Given the description of an element on the screen output the (x, y) to click on. 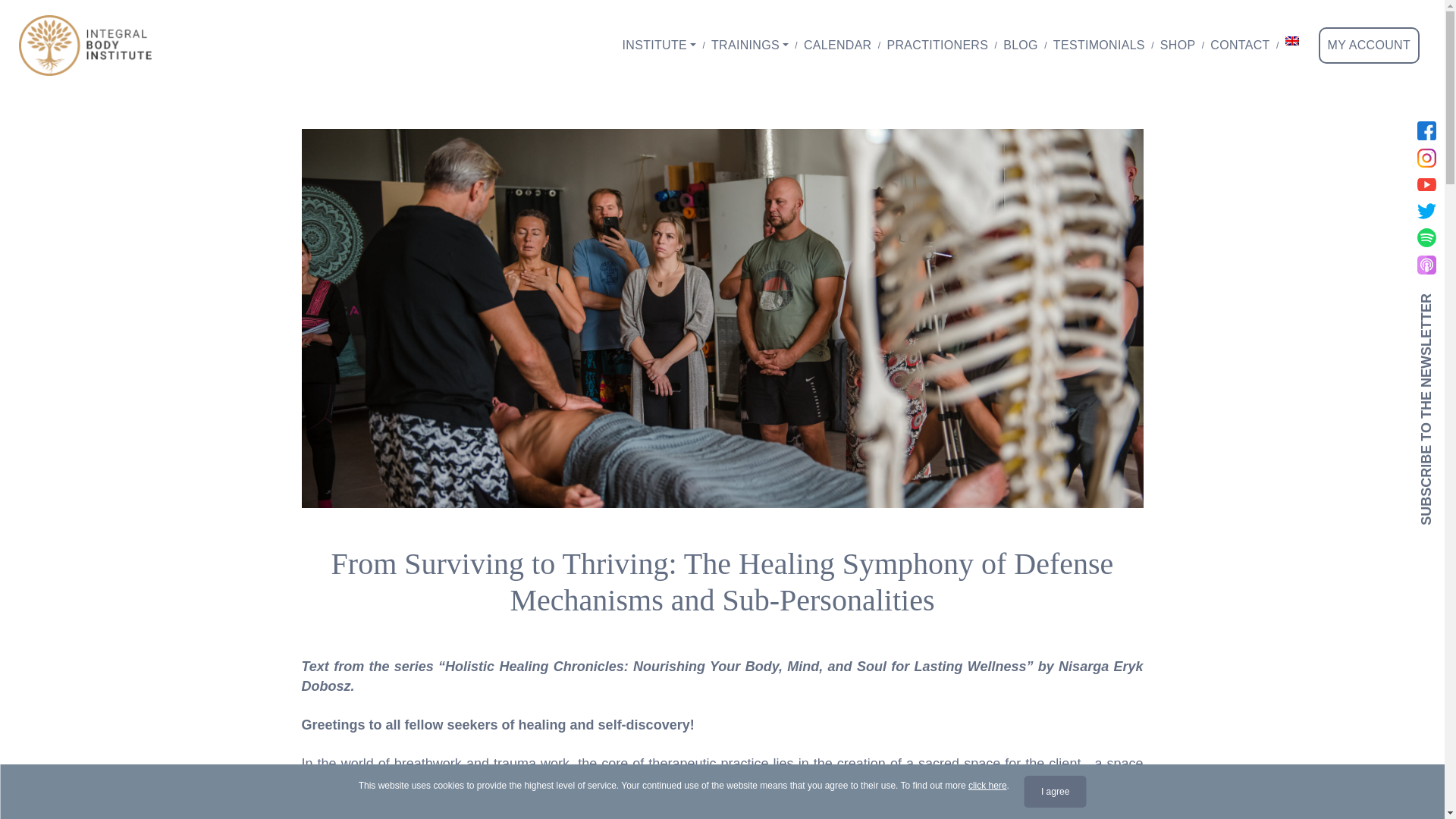
click here (987, 785)
Calendar (837, 45)
PRACTITIONERS (937, 45)
TESTIMONIALS (1099, 45)
Contact (1239, 45)
MY ACCOUNT (1369, 45)
Blog (1020, 45)
Institute (658, 45)
CALENDAR (837, 45)
TRAININGS (749, 45)
